Given the description of an element on the screen output the (x, y) to click on. 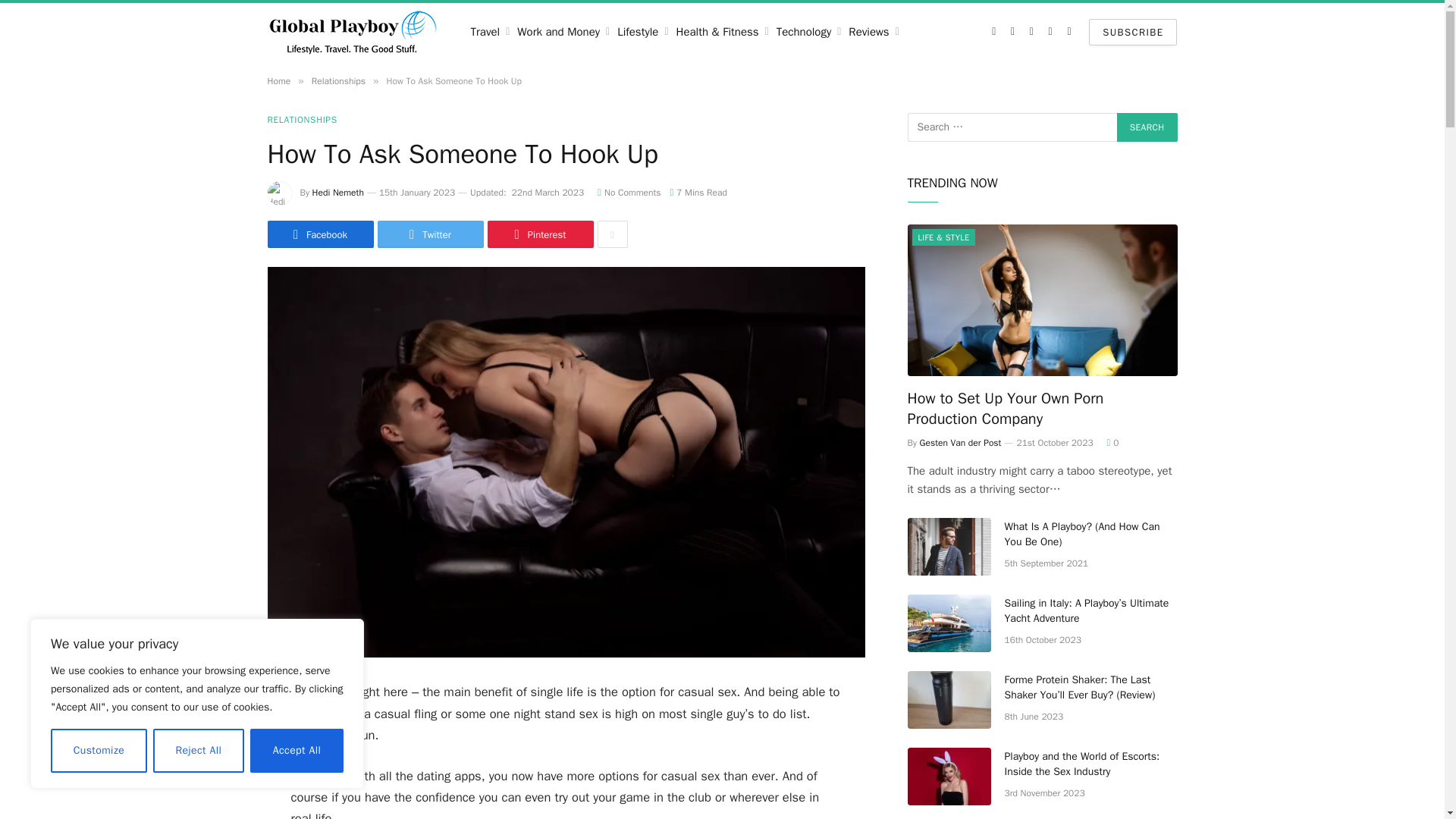
Work and Money (562, 31)
Travel (490, 31)
Global Playboy (352, 31)
Accept All (296, 750)
Reject All (198, 750)
Customize (98, 750)
Search (1146, 127)
Search (1146, 127)
